Given the description of an element on the screen output the (x, y) to click on. 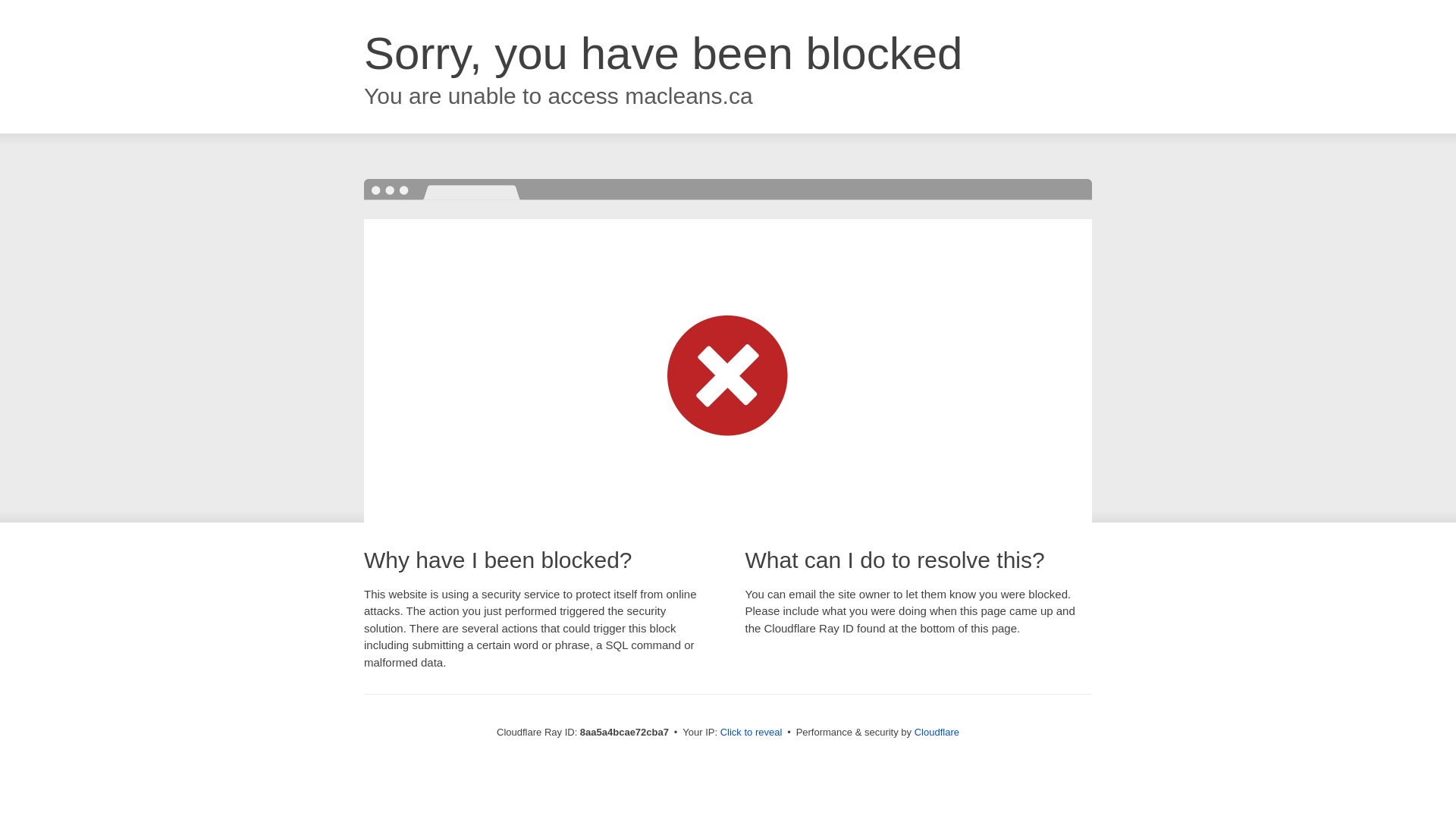
Cloudflare (936, 731)
Click to reveal (751, 732)
